Given the description of an element on the screen output the (x, y) to click on. 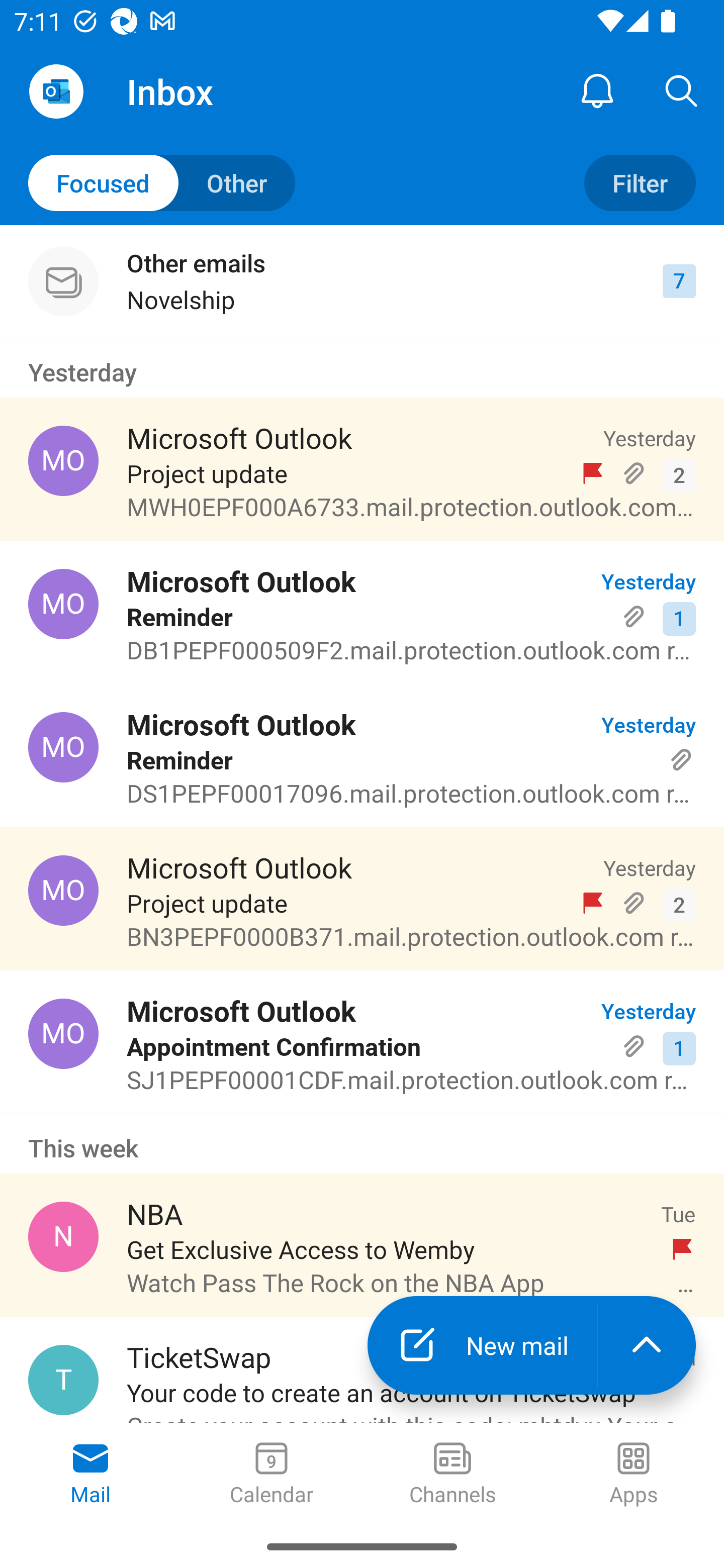
Notification Center (597, 90)
Search, ,  (681, 90)
Open Navigation Drawer (55, 91)
Toggle to other mails (161, 183)
Filter (639, 183)
Other emails Novelship 7 (362, 281)
NBA, NBA@email.nba.com (63, 1236)
New mail (481, 1344)
launch the extended action menu (646, 1344)
TicketSwap, info@ticketswap.com (63, 1380)
Calendar (271, 1474)
Channels (452, 1474)
Apps (633, 1474)
